Given the description of an element on the screen output the (x, y) to click on. 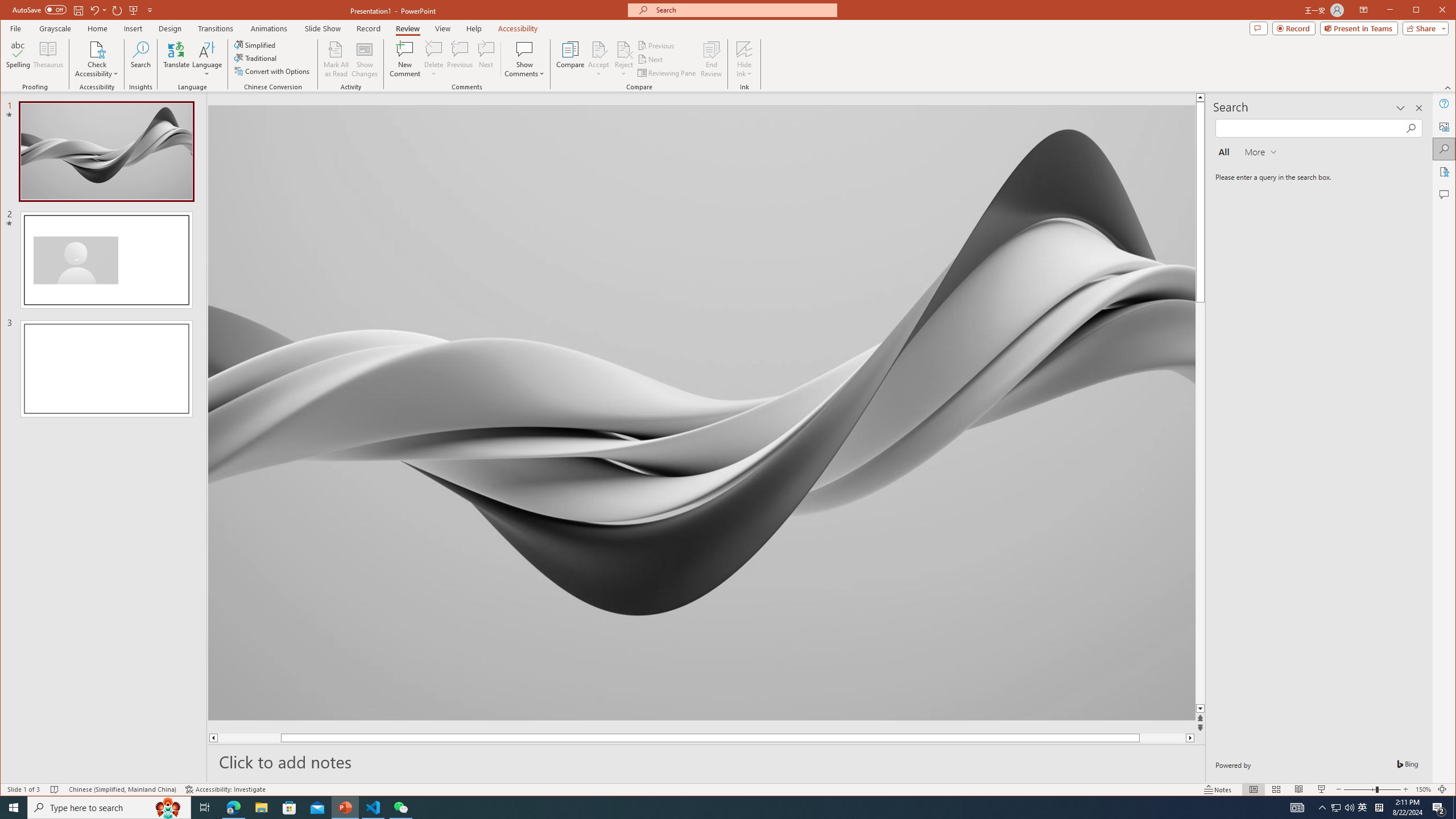
Thesaurus... (48, 59)
Language (207, 59)
End Review (710, 59)
